Given the description of an element on the screen output the (x, y) to click on. 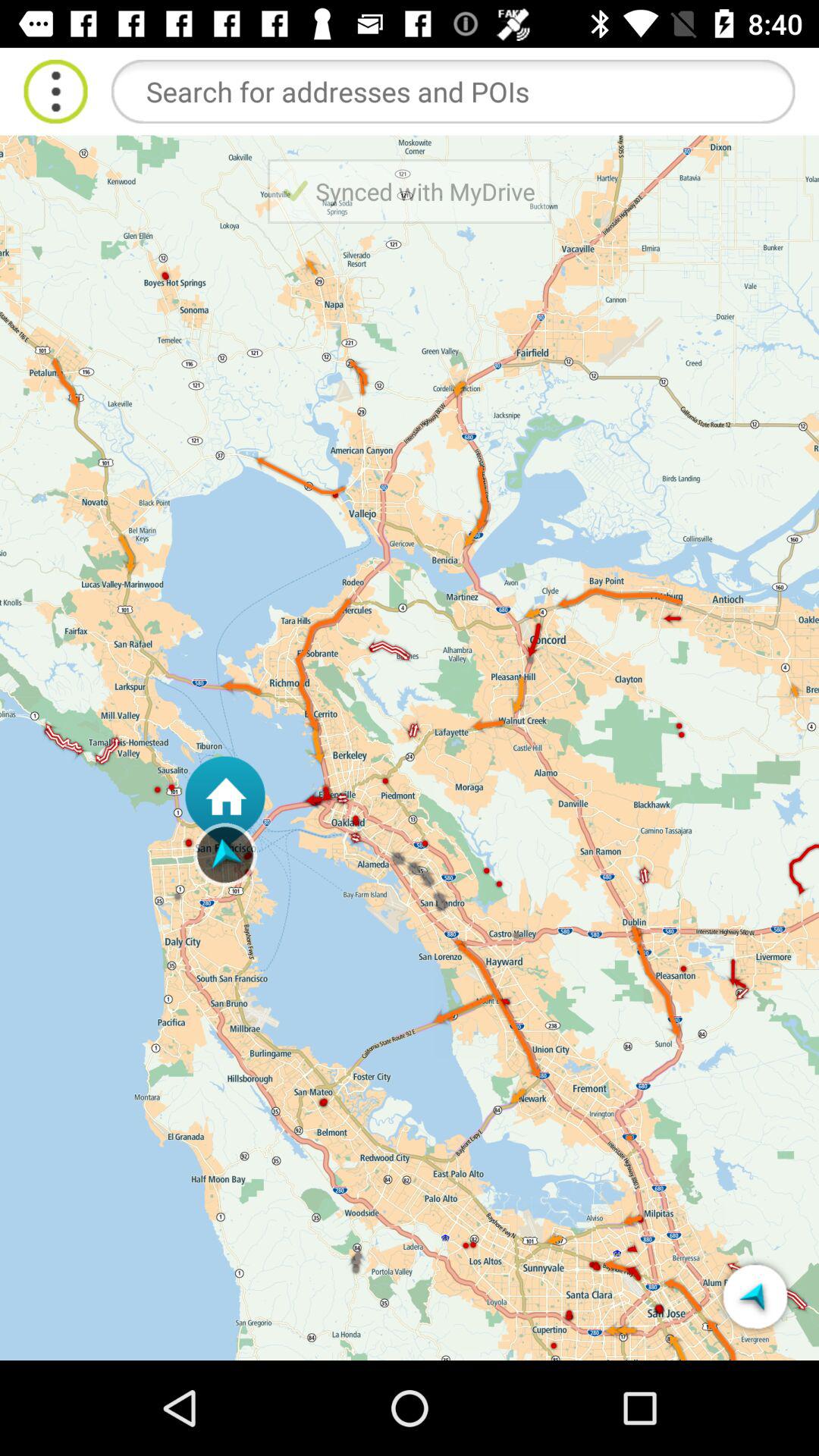
open settings (55, 91)
